Given the description of an element on the screen output the (x, y) to click on. 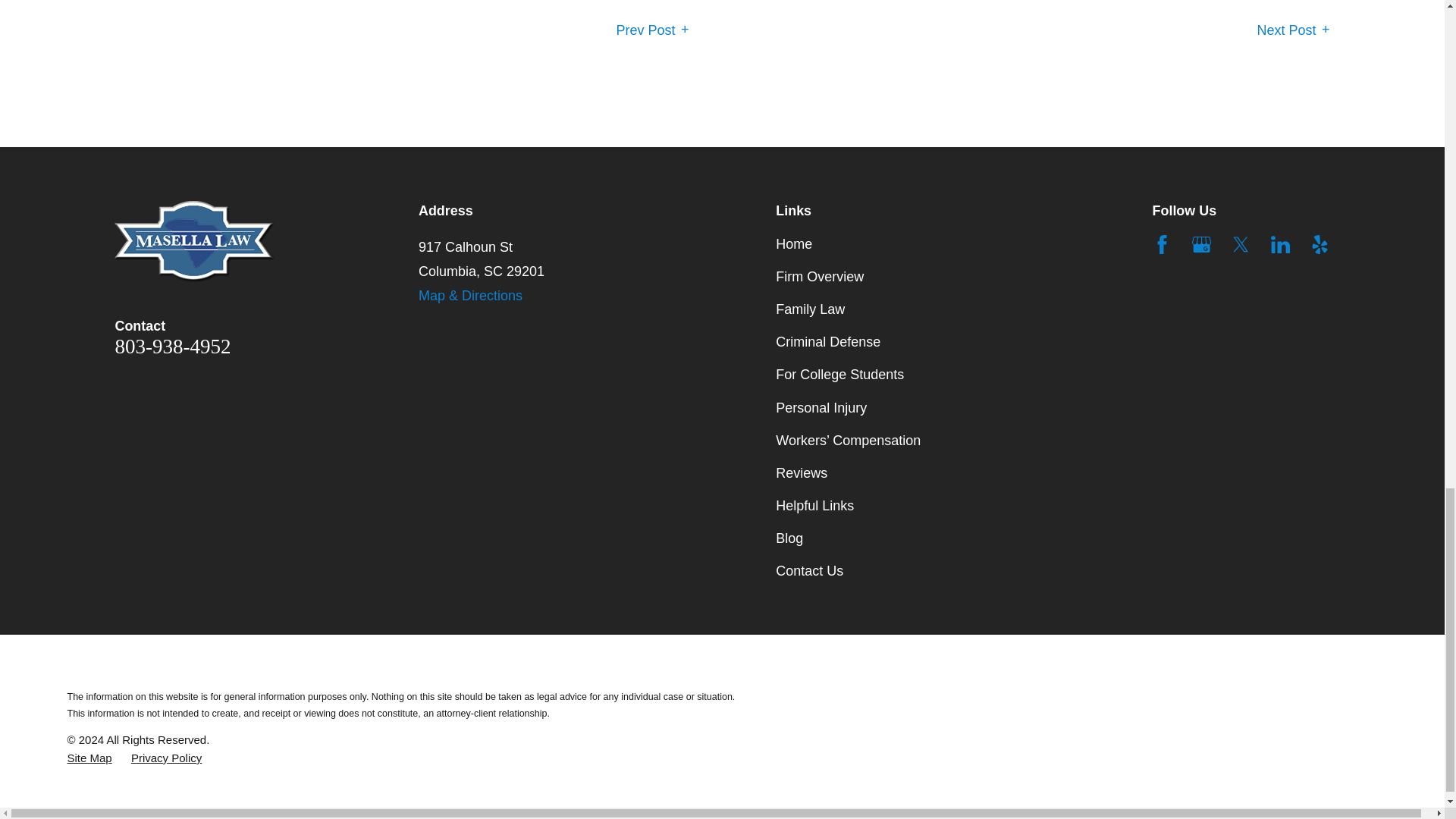
Masella Law Firm, P.A. (195, 240)
Google Business Profile (1201, 244)
Home (267, 240)
Facebook (1162, 244)
Twitter (1240, 244)
